Given the description of an element on the screen output the (x, y) to click on. 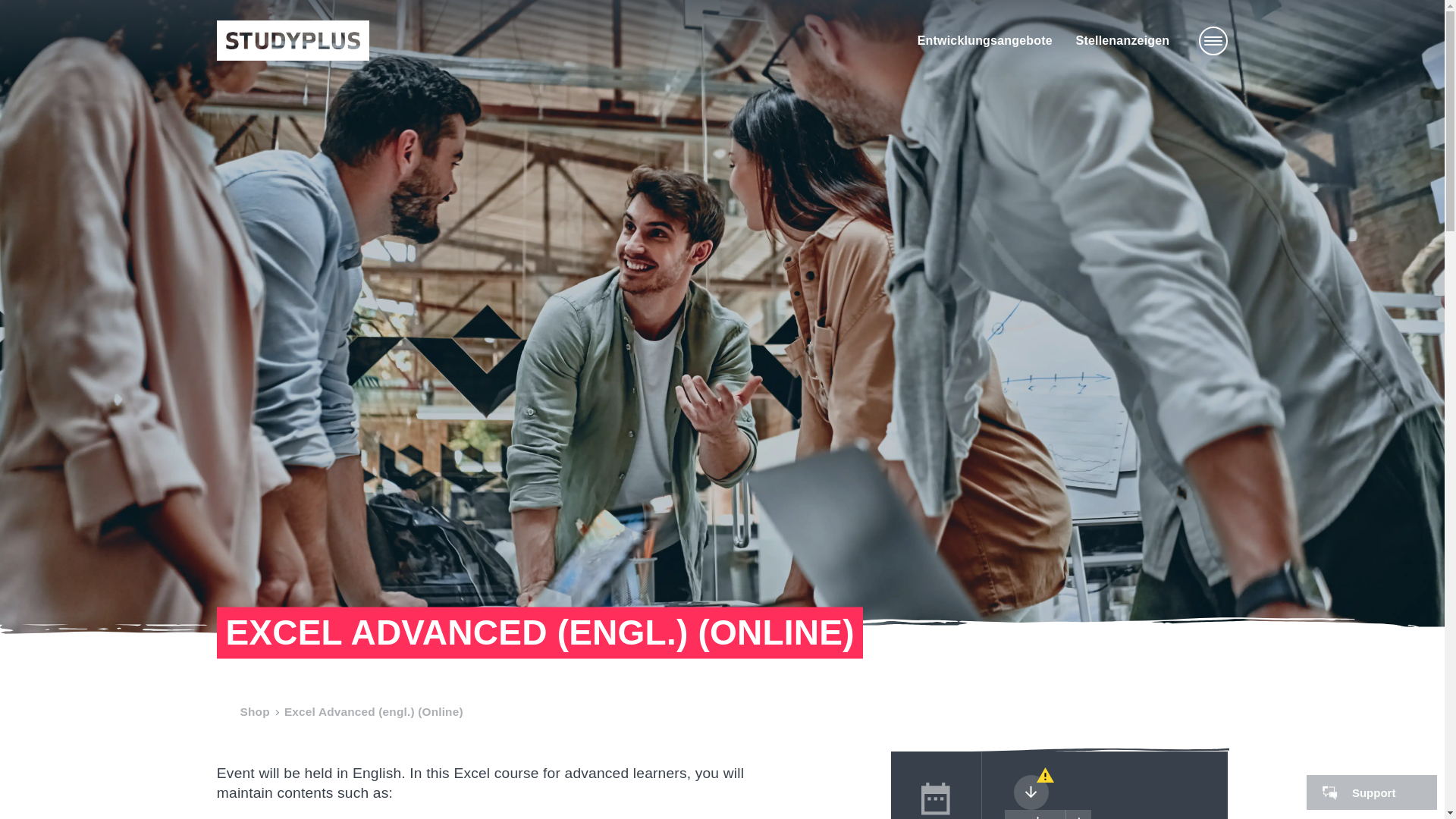
Hochschule Fresenius (292, 40)
Entwicklungsangebote (984, 40)
merken (1047, 814)
Stellenanzeigen (1122, 40)
Shop (254, 711)
Support (1371, 792)
